Given the description of an element on the screen output the (x, y) to click on. 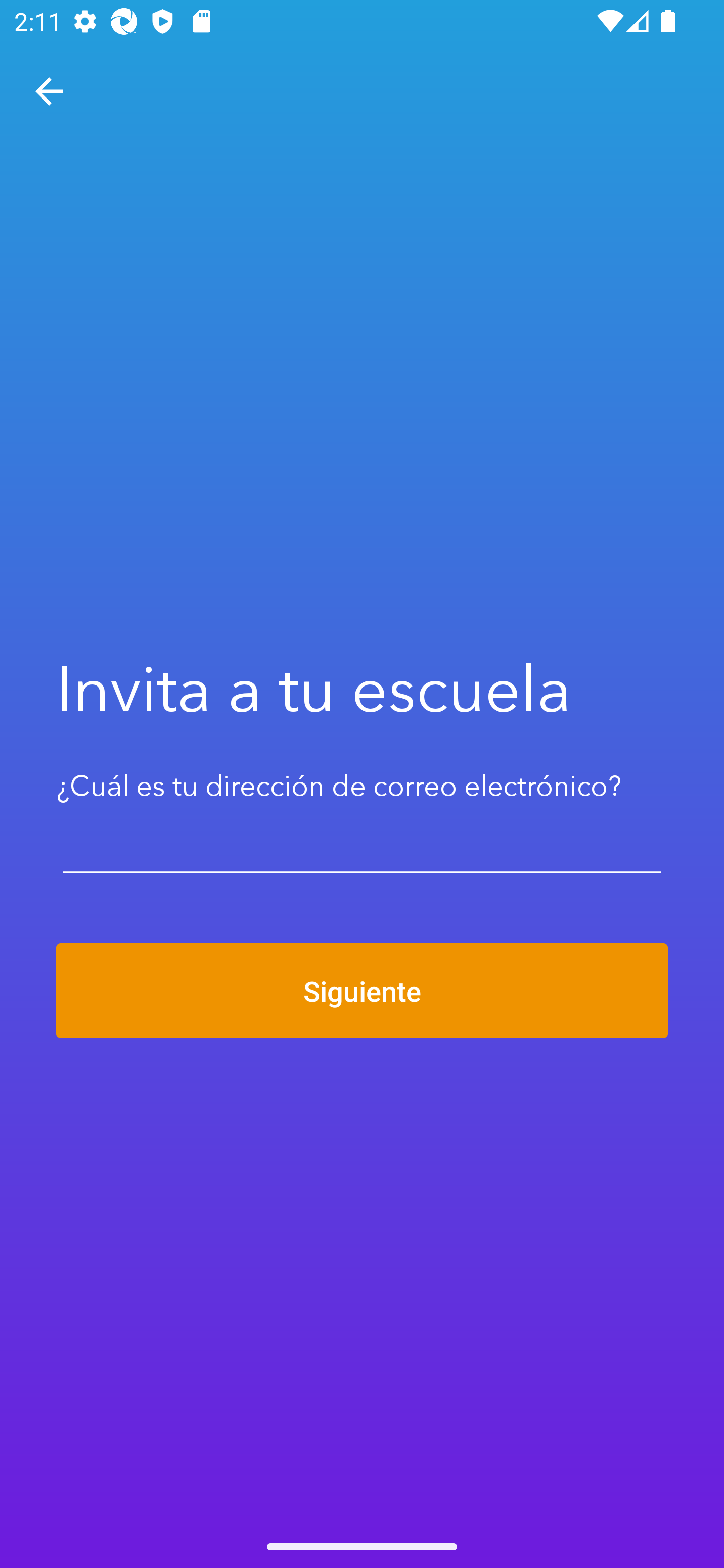
Navegar hacia arriba (49, 91)
Siguiente (361, 990)
